Given the description of an element on the screen output the (x, y) to click on. 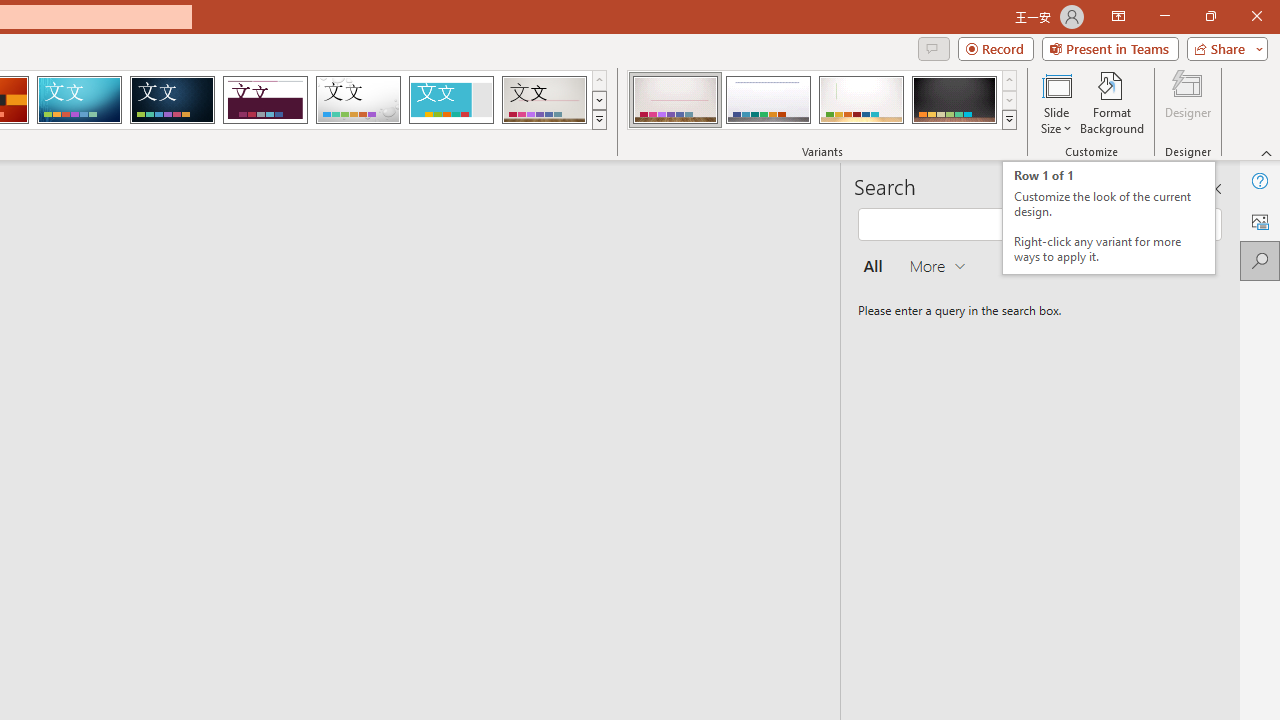
Gallery Variant 2 (768, 100)
Circuit (79, 100)
Frame (450, 100)
Gallery Variant 1 (674, 100)
